Given the description of an element on the screen output the (x, y) to click on. 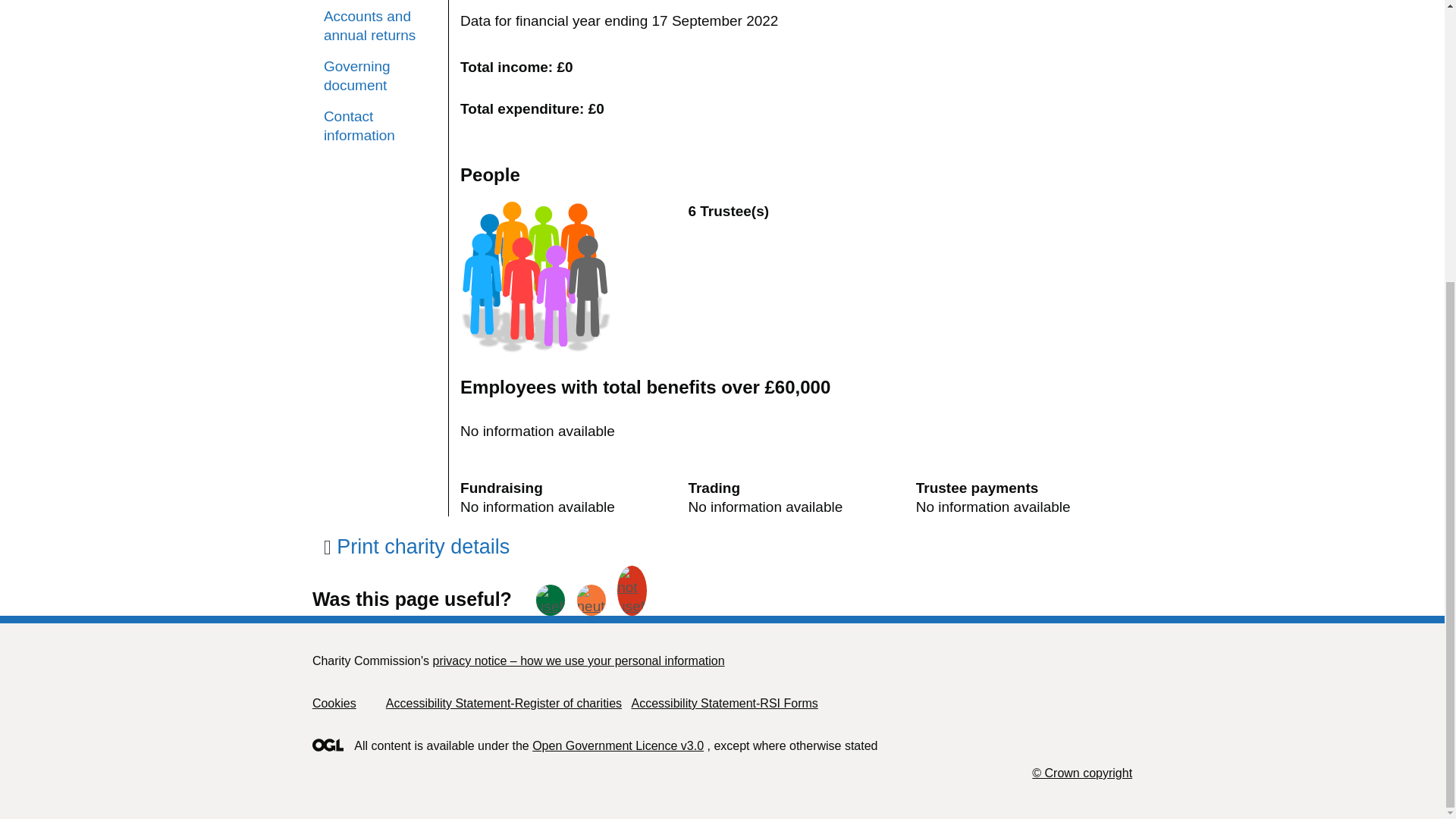
Cookies (334, 703)
Accessibility Statement-RSI Forms (723, 703)
Accessibility Statement-Register of charities (503, 703)
Governing document (379, 75)
Open Government Licence v3.0 (617, 745)
Accounts and annual returns (379, 25)
Contact information (379, 125)
Print charity details (416, 546)
